Given the description of an element on the screen output the (x, y) to click on. 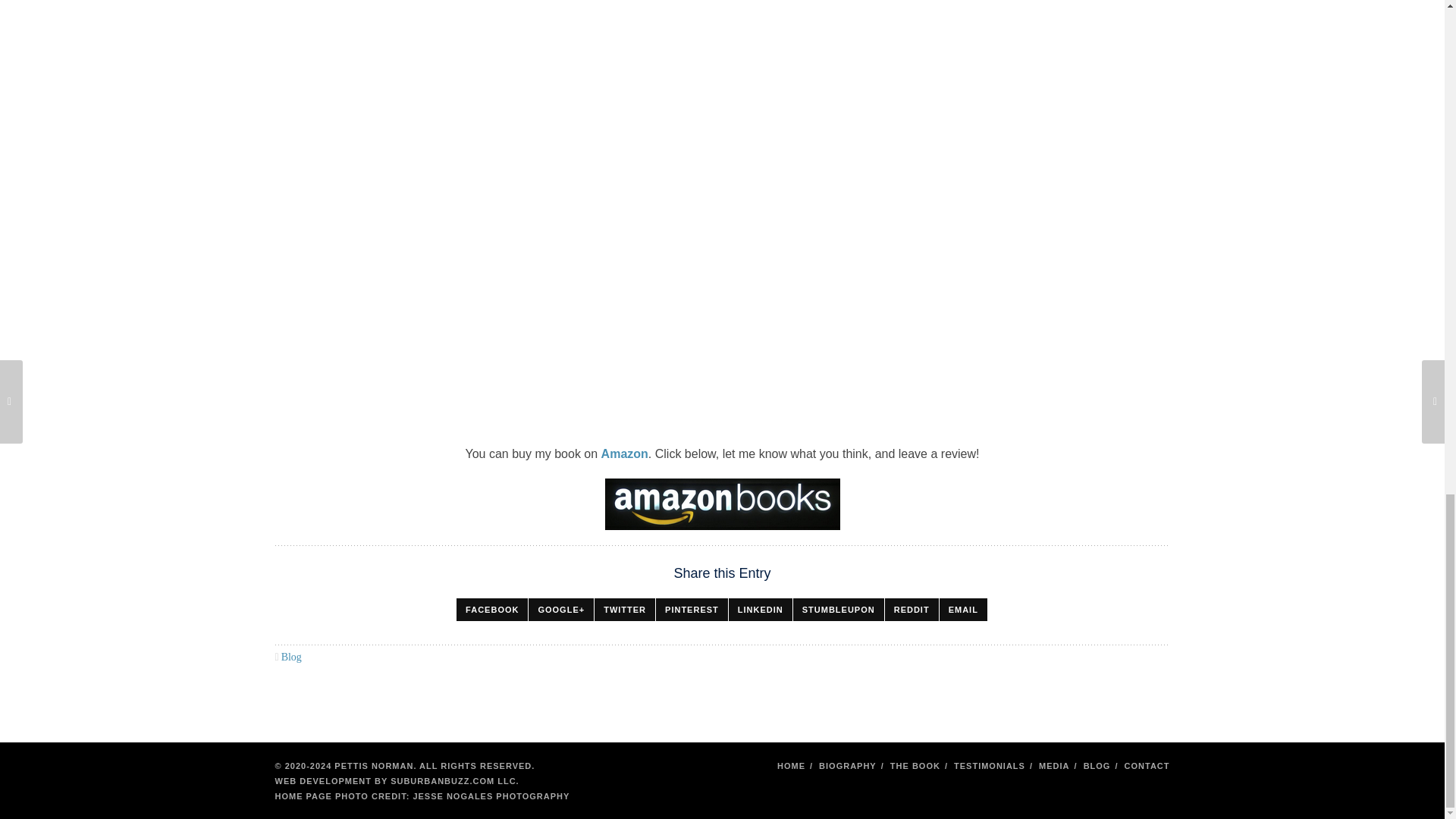
WordPress Wed Development (395, 780)
STUMBLEUPON (838, 609)
CONTACT (1147, 765)
BIOGRAPHY (847, 765)
Blog (291, 656)
EMAIL (963, 609)
TESTIMONIALS (989, 765)
THE BOOK (914, 765)
WEB DEVELOPMENT BY SUBURBANBUZZ.COM LLC (395, 780)
REDDIT (912, 609)
FACEBOOK (492, 609)
TWITTER (624, 609)
PINTEREST (692, 609)
MEDIA (1053, 765)
BLOG (1096, 765)
